Given the description of an element on the screen output the (x, y) to click on. 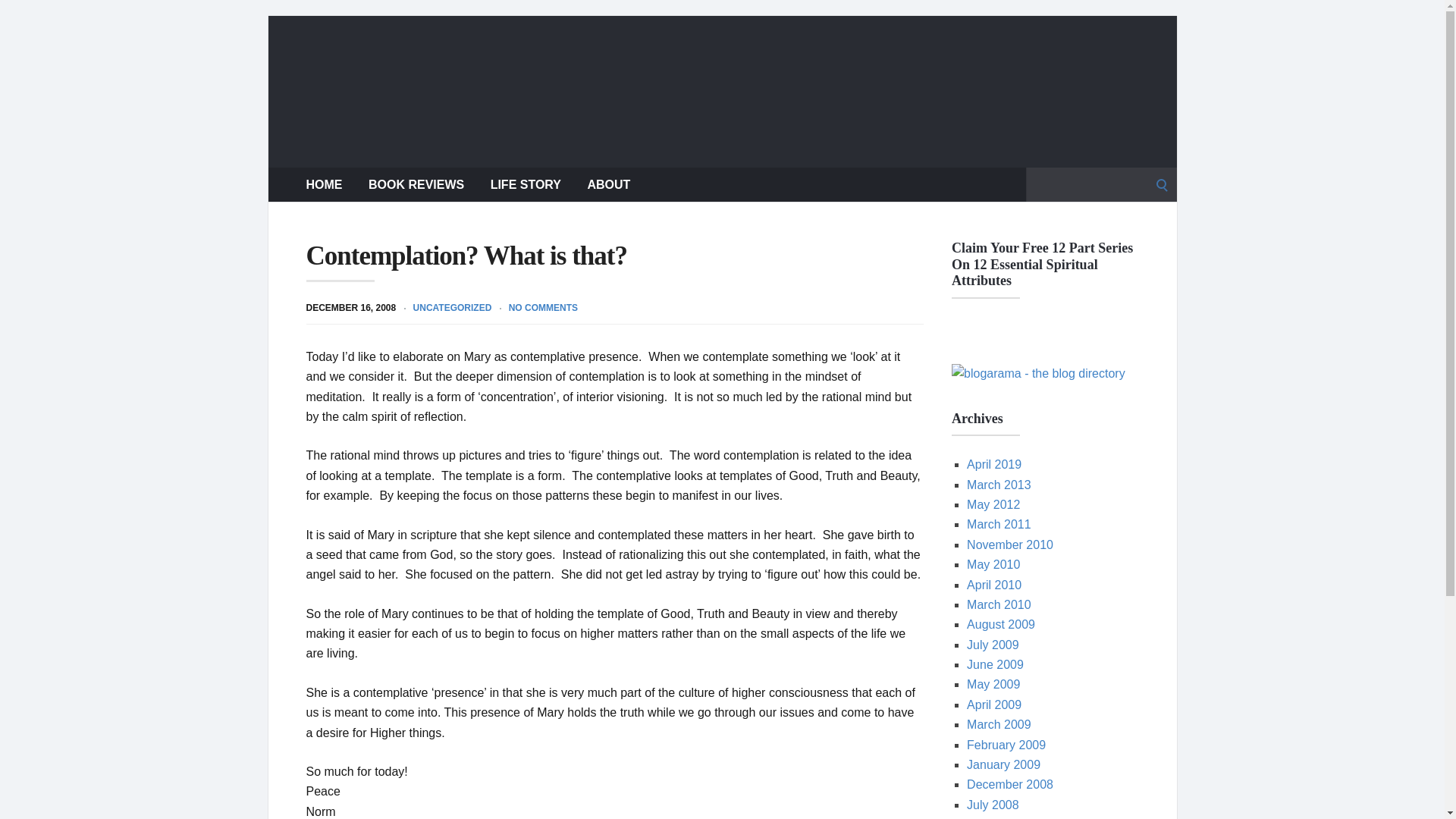
March 2013 (998, 484)
August 2009 (1000, 624)
February 2009 (1005, 744)
ABOUT (608, 184)
Search (16, 17)
March 2011 (998, 523)
April 2009 (994, 704)
July 2009 (992, 644)
BOOK REVIEWS (416, 184)
January 2009 (1003, 764)
